Given the description of an element on the screen output the (x, y) to click on. 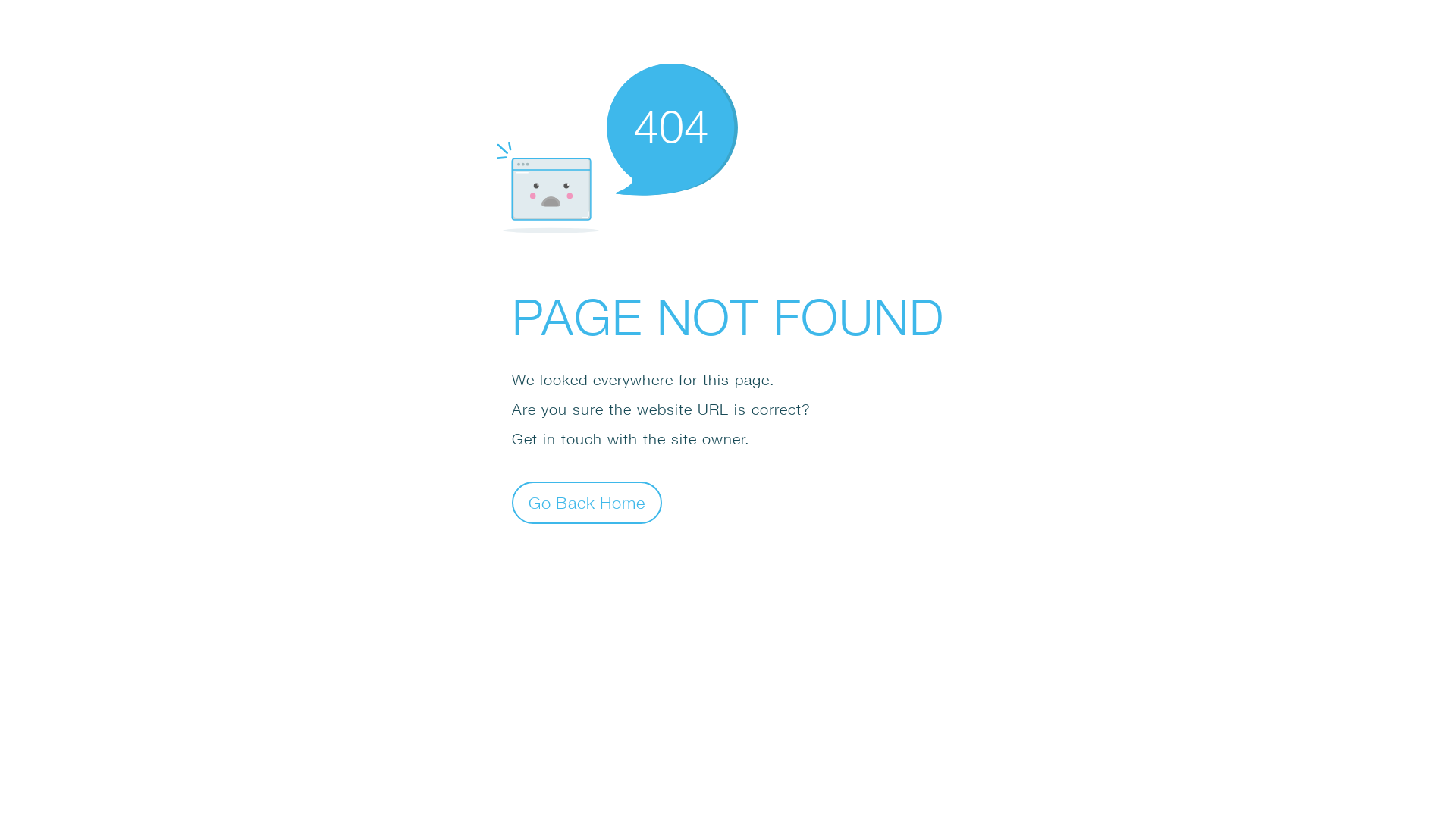
Go Back Home Element type: text (586, 502)
